Given the description of an element on the screen output the (x, y) to click on. 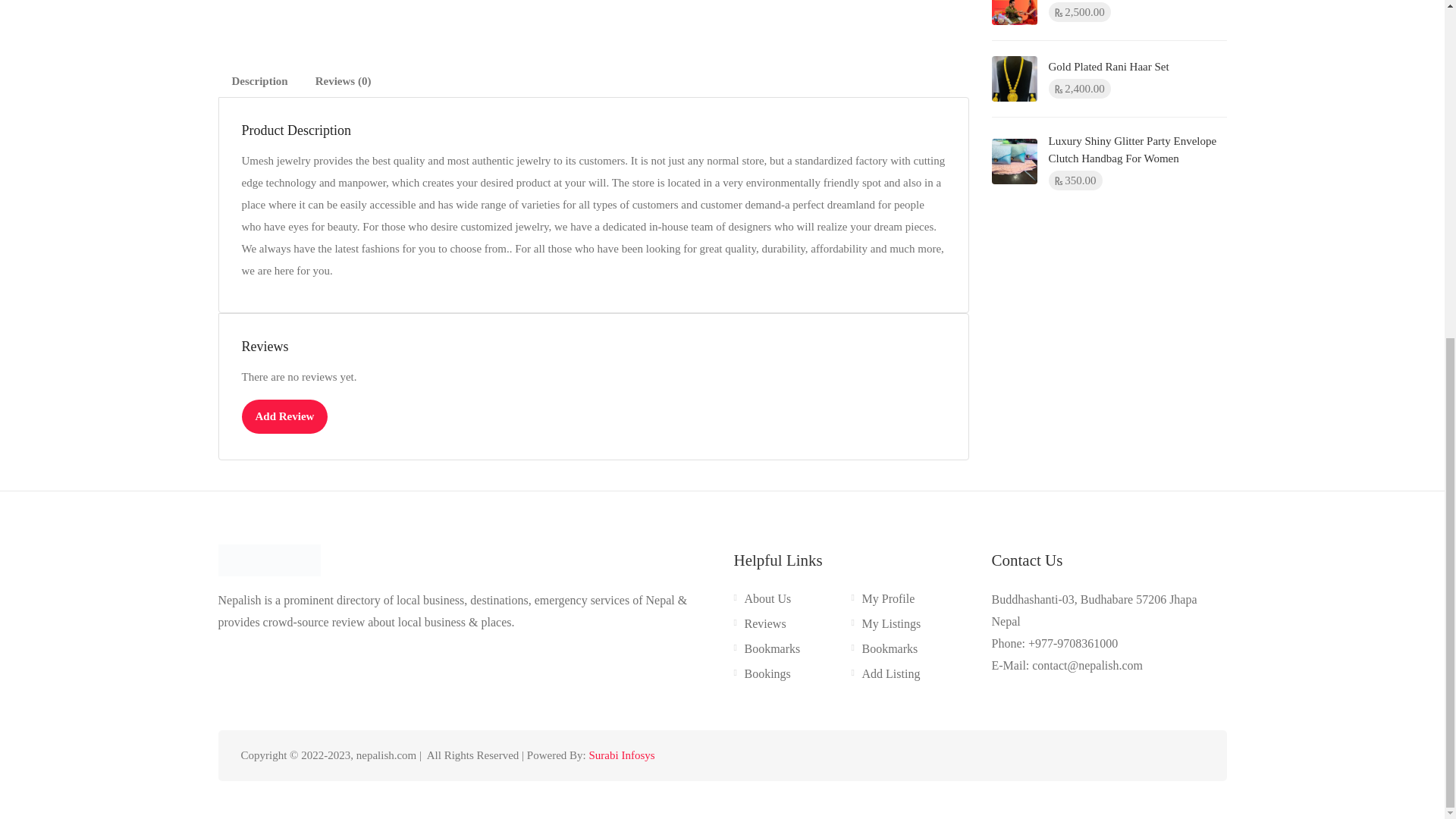
Surabi Infosys (623, 755)
Add Review (284, 416)
Reviews (759, 626)
Bookmarks (766, 651)
About Us (762, 601)
Description (259, 81)
